Given the description of an element on the screen output the (x, y) to click on. 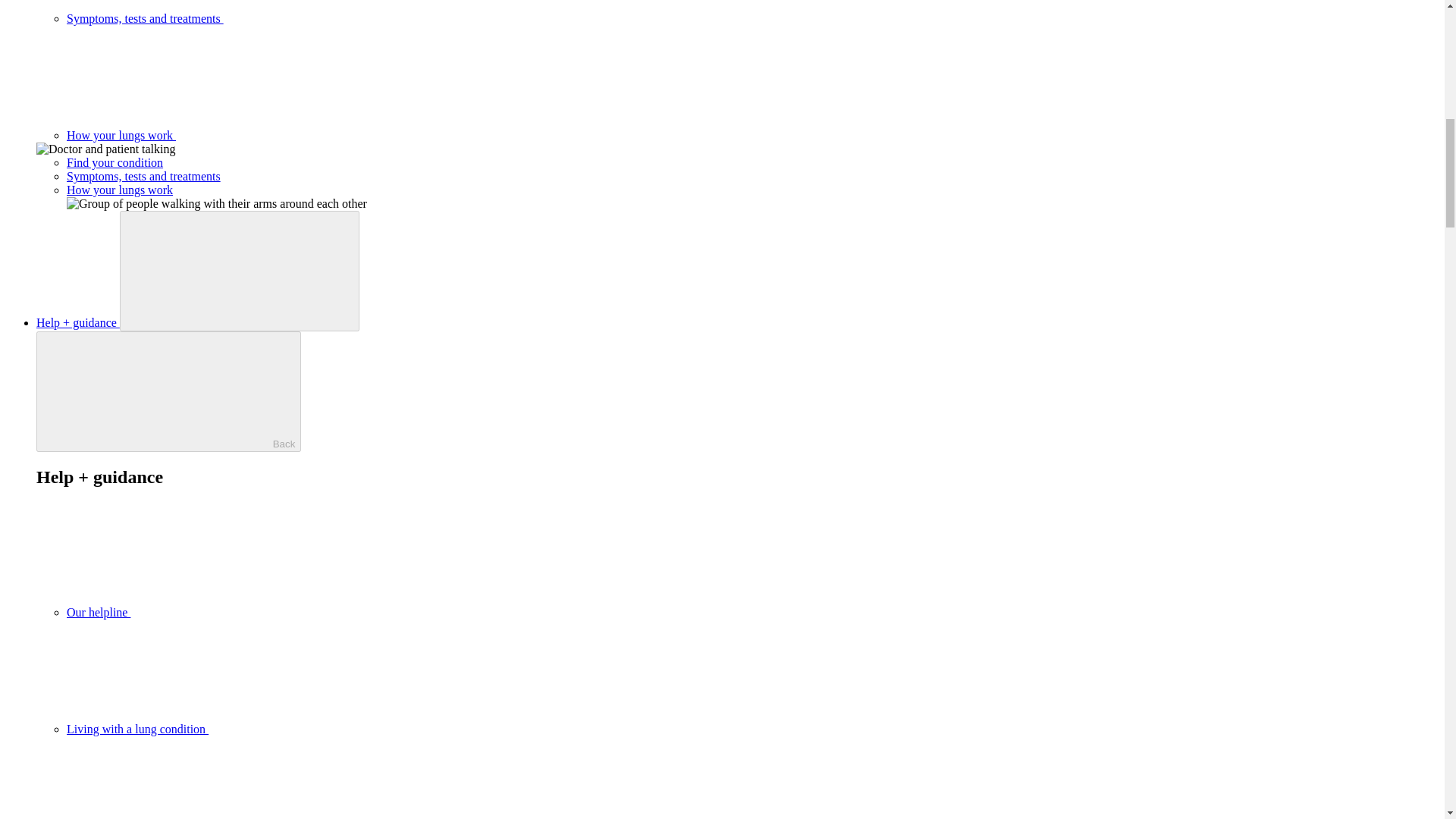
Symptoms, tests and treatments (258, 18)
How your lungs work (119, 189)
Living with a lung condition (250, 728)
Living with a lung condition (250, 728)
How your lungs work (234, 134)
Symptoms, tests and treatments (258, 18)
Our helpline (212, 612)
Our helpline (212, 612)
Symptoms, tests and treatments (143, 175)
Back (168, 391)
